Given the description of an element on the screen output the (x, y) to click on. 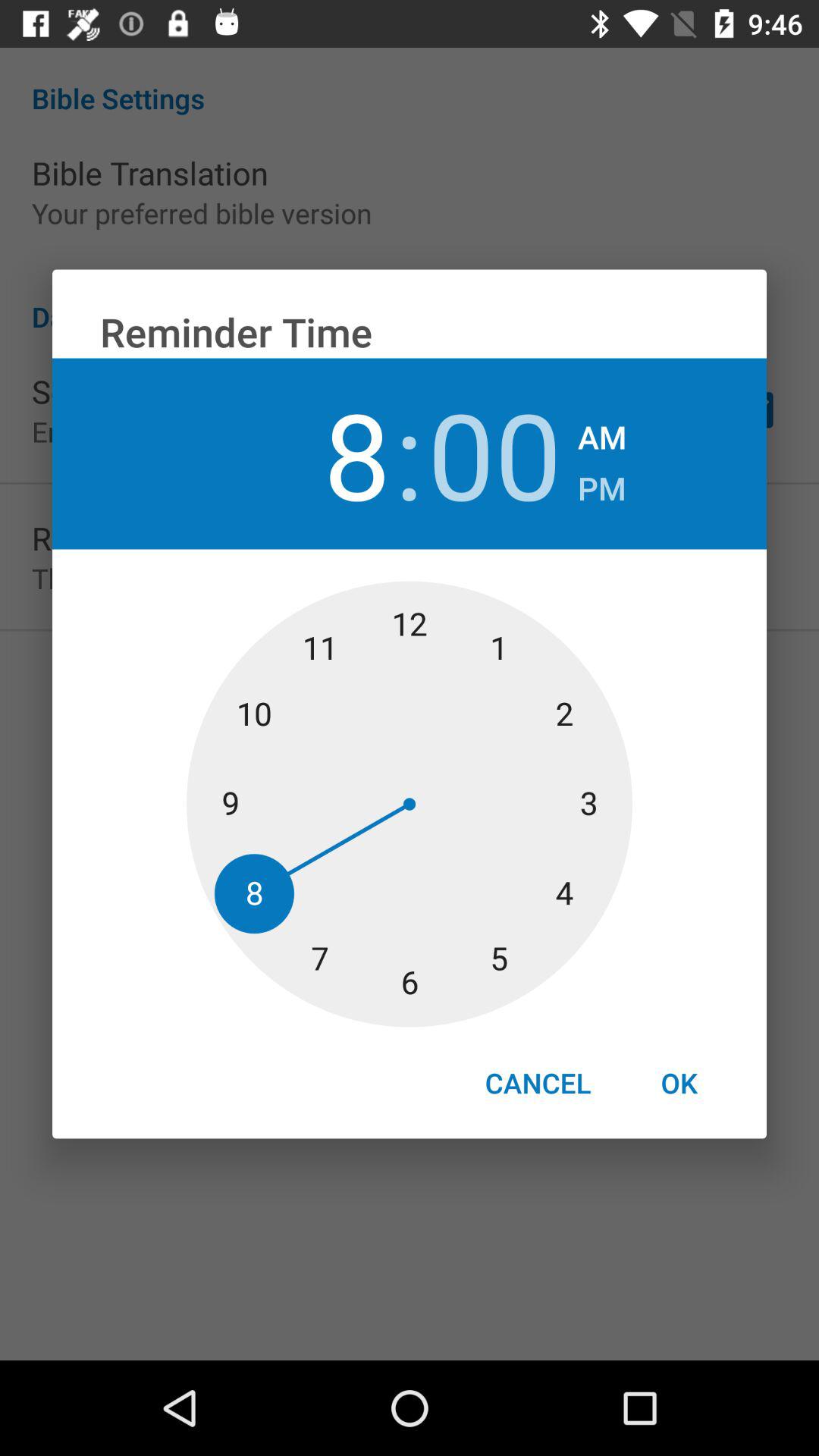
press the icon above the pm item (601, 432)
